Given the description of an element on the screen output the (x, y) to click on. 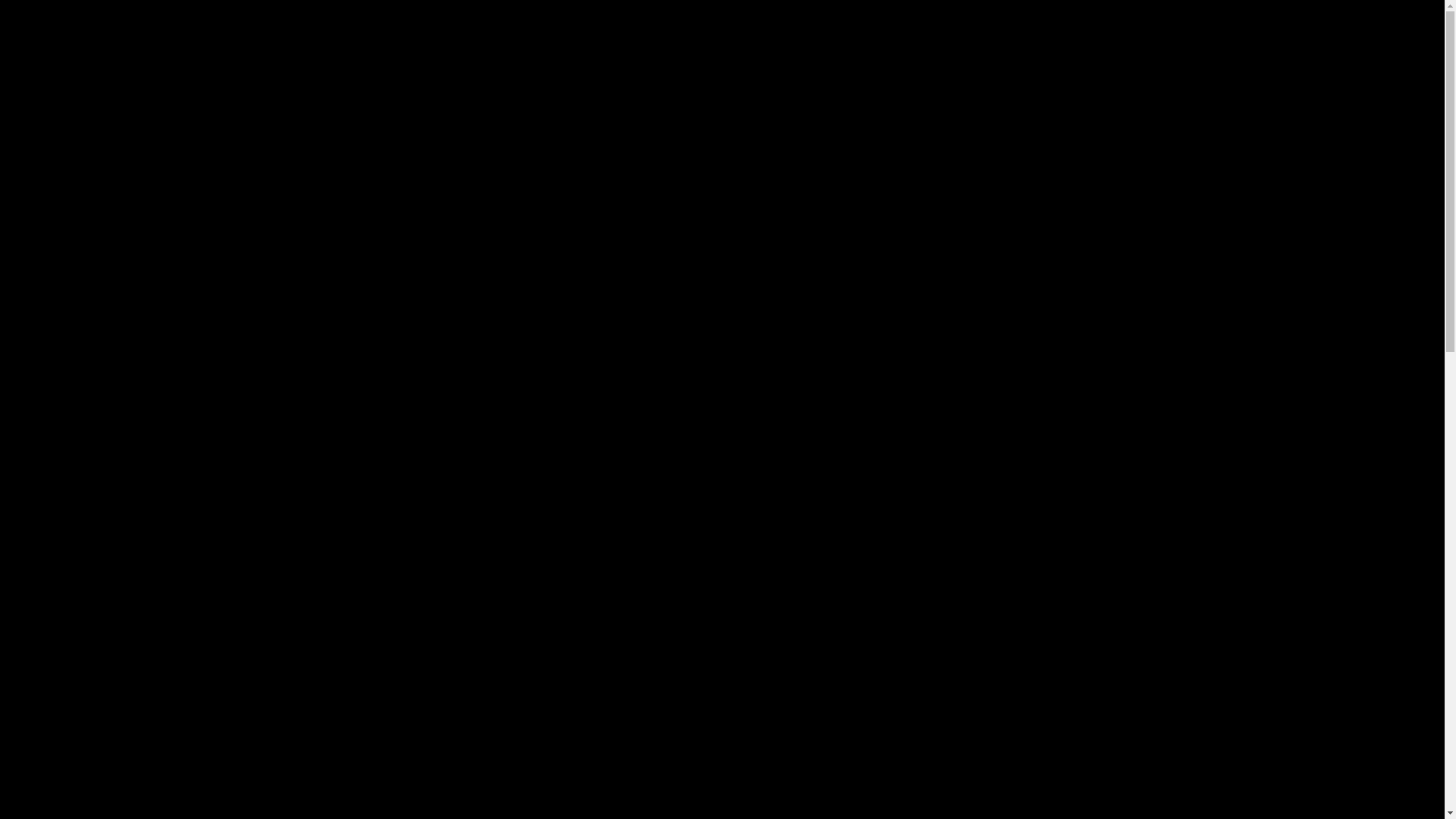
Ground Floor, Unit 10
36 Petterd Street
Page ACT 2614 Element type: text (563, 601)
LEARN MORE Element type: text (173, 663)
LinkedIn Element type: text (1160, 602)
Contact Us Element type: text (1004, 30)
+61 2 5104 3110 Element type: text (550, 673)
Site by Swell Element type: text (1338, 746)
Litigation & Dispute Resolution Element type: text (148, 730)
Facebook Element type: text (1160, 586)
NAMADGI LEGAL Element type: text (556, 30)
Terms of Use Element type: text (984, 746)
Personal & Corporate Insolvency Element type: text (154, 746)
MENU Element type: text (1353, 30)
Business & Corporations Law Element type: text (145, 714)
admin@namadgilegal.com.au Element type: text (1023, 673)
